Given the description of an element on the screen output the (x, y) to click on. 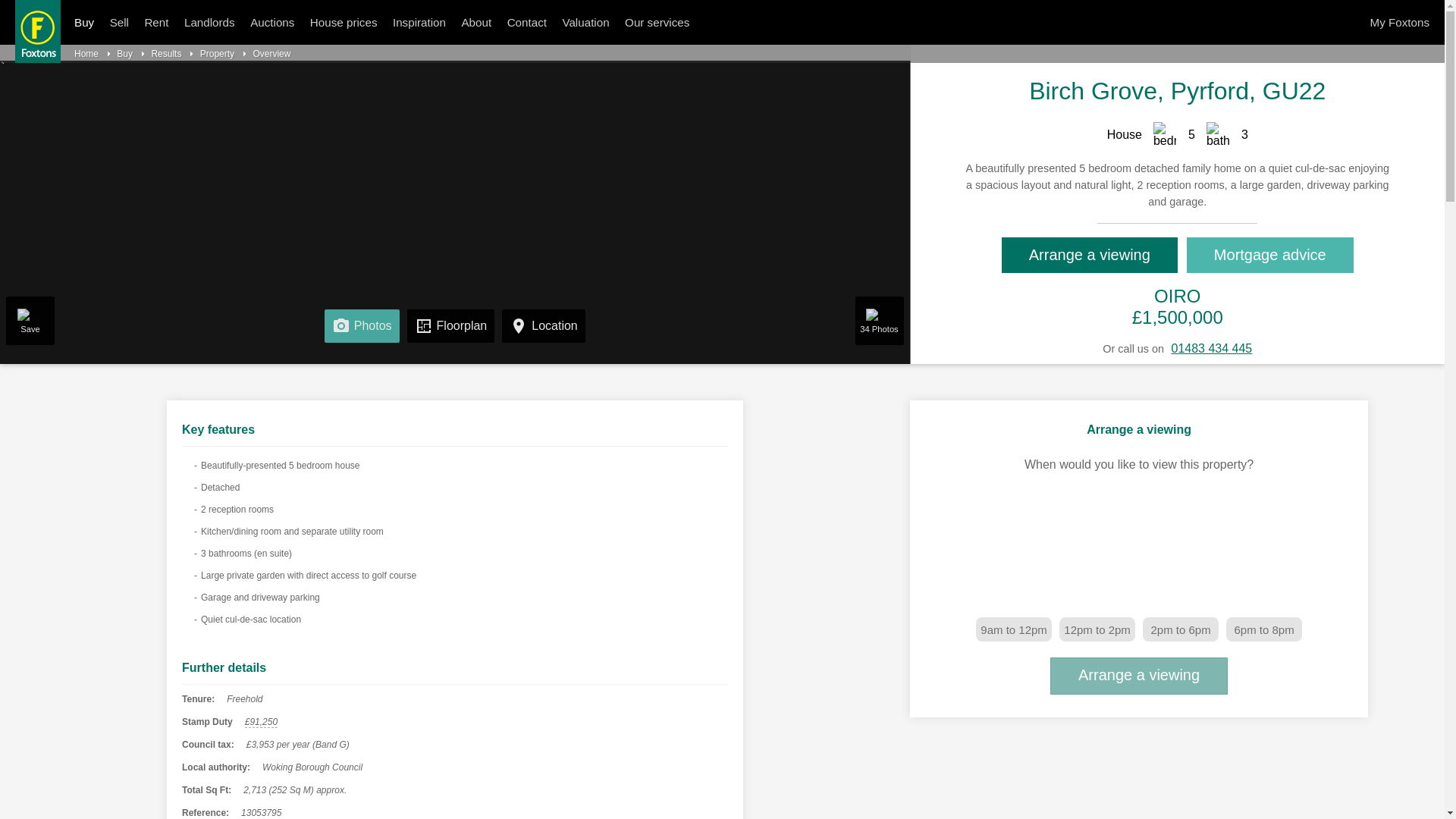
Offers in region of (1176, 296)
9am to 12pm (1013, 629)
Auctions (271, 22)
Inspiration (419, 22)
More about Stamp Duty (261, 722)
About (475, 22)
Landlords (209, 22)
Contact (526, 22)
2pm to 6pm (1180, 629)
Request a time between 2pm to 6pm (1180, 629)
